Given the description of an element on the screen output the (x, y) to click on. 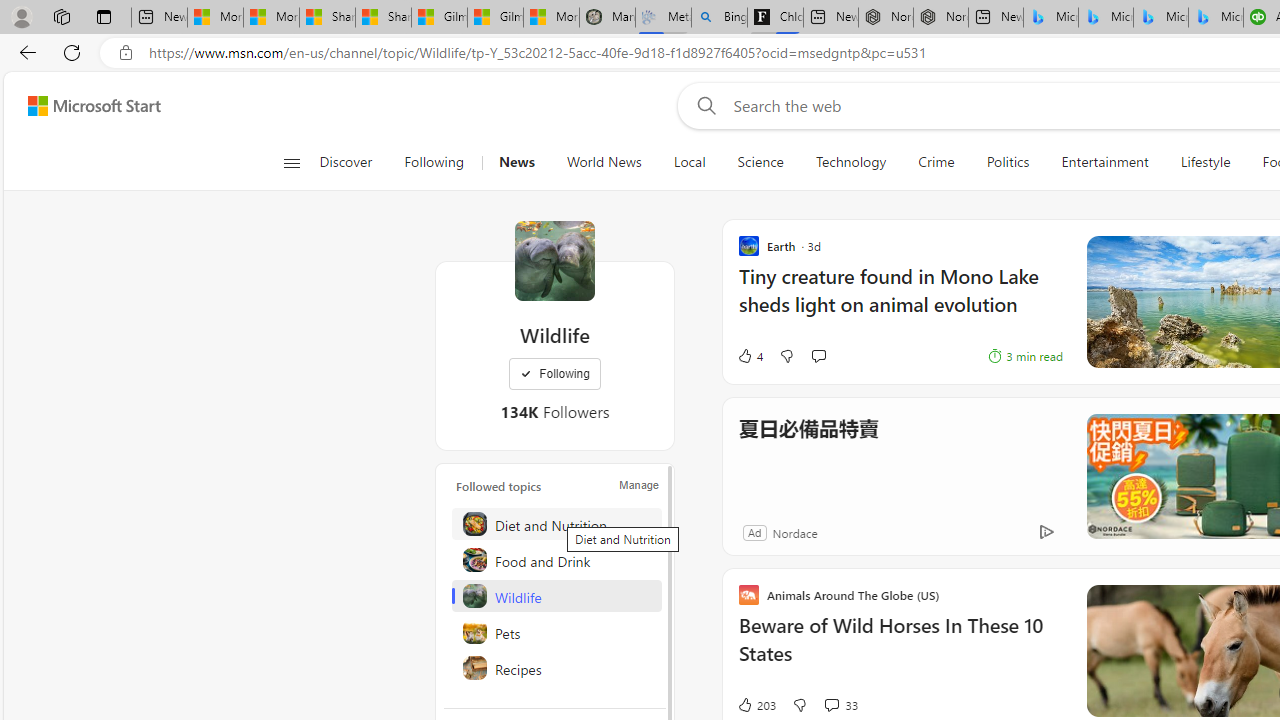
World News (603, 162)
Local (689, 162)
Lifestyle (1204, 162)
Recipes (556, 668)
Manatee Mortality Statistics | FWC (606, 17)
Wildlife (556, 596)
Entertainment (1105, 162)
Politics (1007, 162)
